Given the description of an element on the screen output the (x, y) to click on. 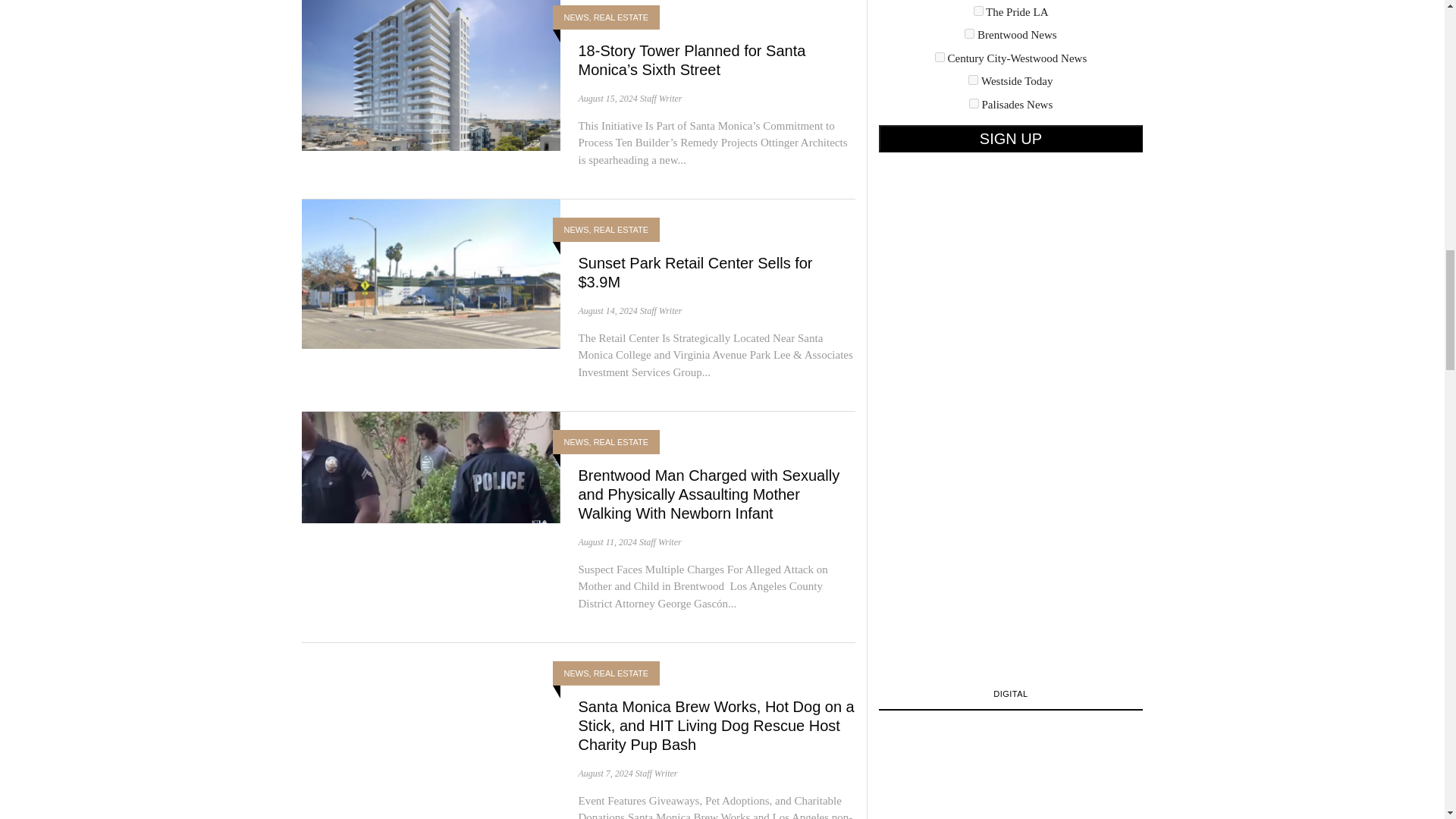
a3d1b6d535 (973, 80)
Posts by Staff Writer (661, 309)
Posts by Staff Writer (660, 542)
5fac618226 (939, 57)
ec7d882848 (973, 103)
Sign up (1009, 138)
Posts by Staff Writer (656, 772)
